Given the description of an element on the screen output the (x, y) to click on. 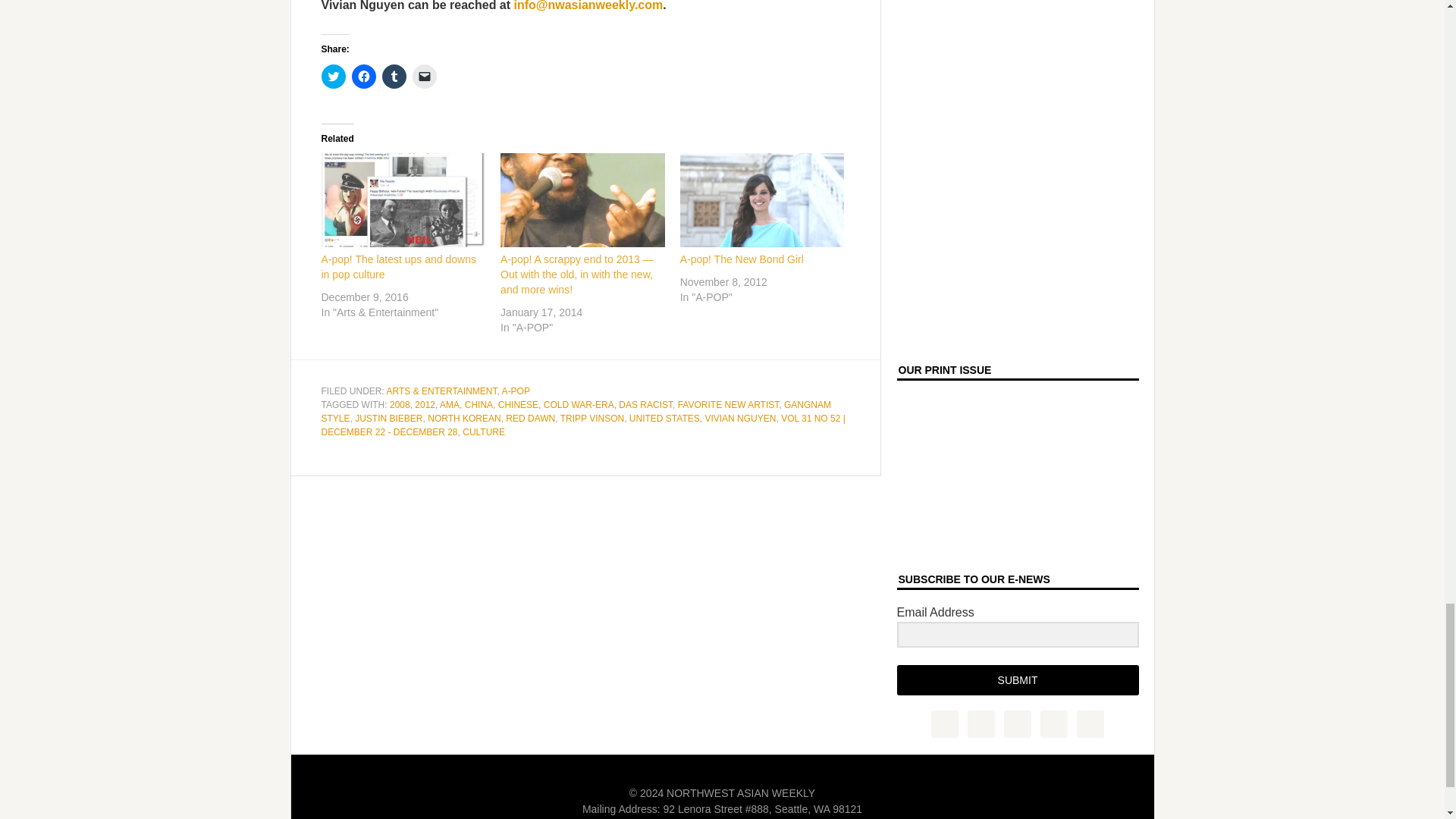
A-pop! The latest ups and downs  in pop culture (398, 266)
A-pop! The New Bond Girl (741, 259)
A-pop! The New Bond Girl (761, 200)
A-pop! The latest ups and downs  in pop culture (403, 200)
Click to share on Facebook (363, 76)
Click to share on Tumblr (393, 76)
Click to email a link to a friend (424, 76)
Click to share on Twitter (333, 76)
